Given the description of an element on the screen output the (x, y) to click on. 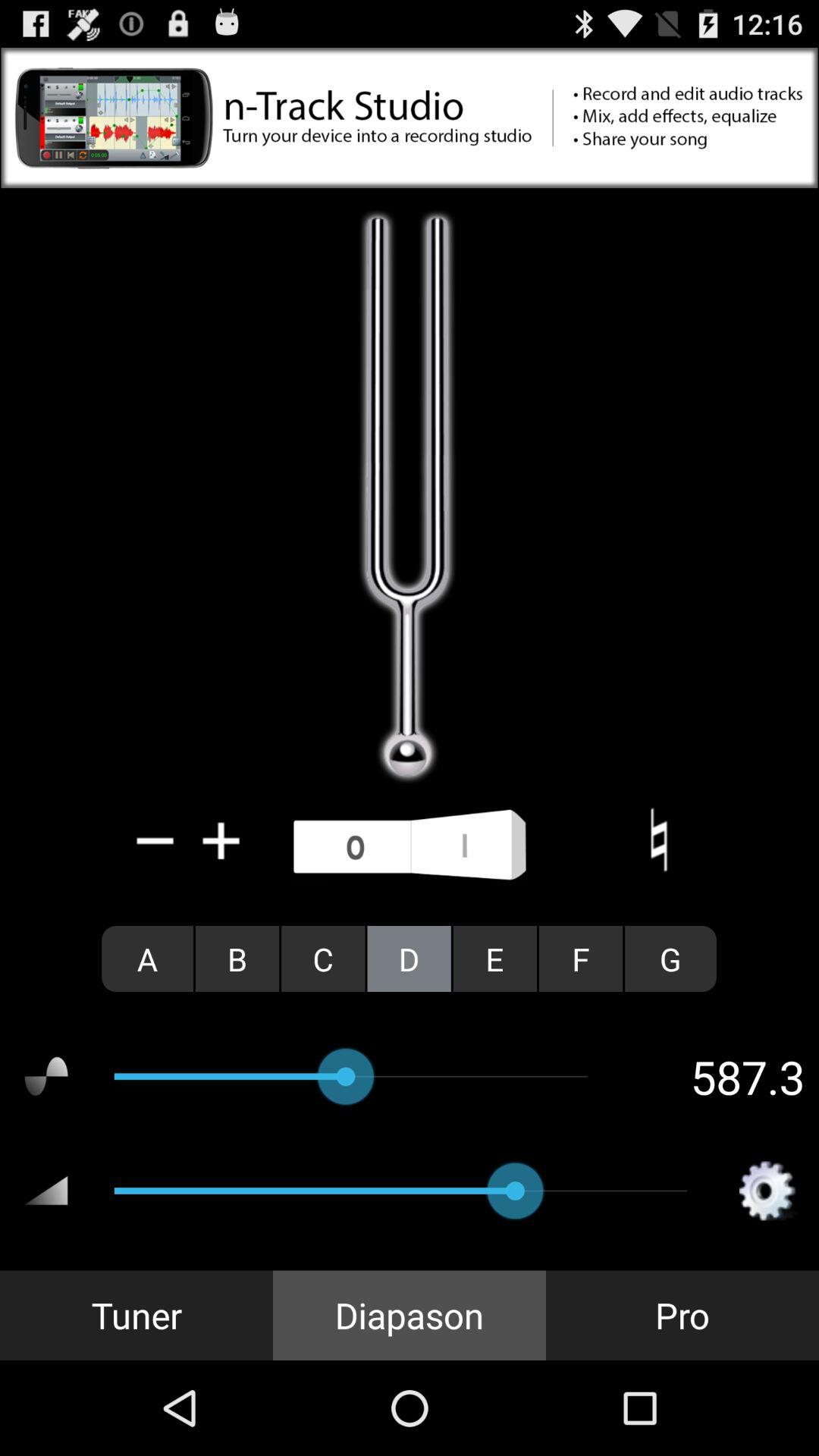
increase volume (221, 840)
